Given the description of an element on the screen output the (x, y) to click on. 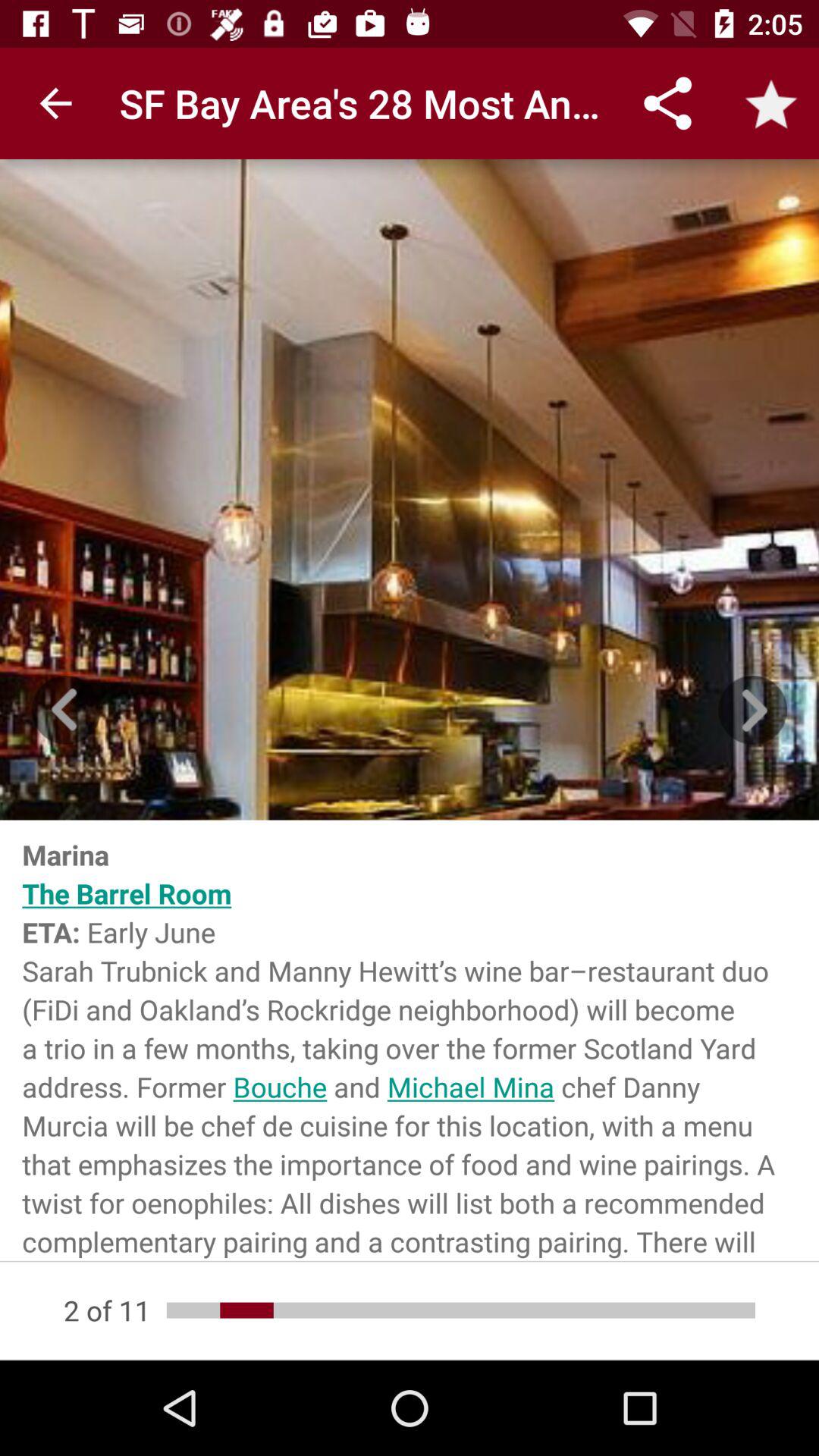
scroll until marina the barrel item (409, 1040)
